Given the description of an element on the screen output the (x, y) to click on. 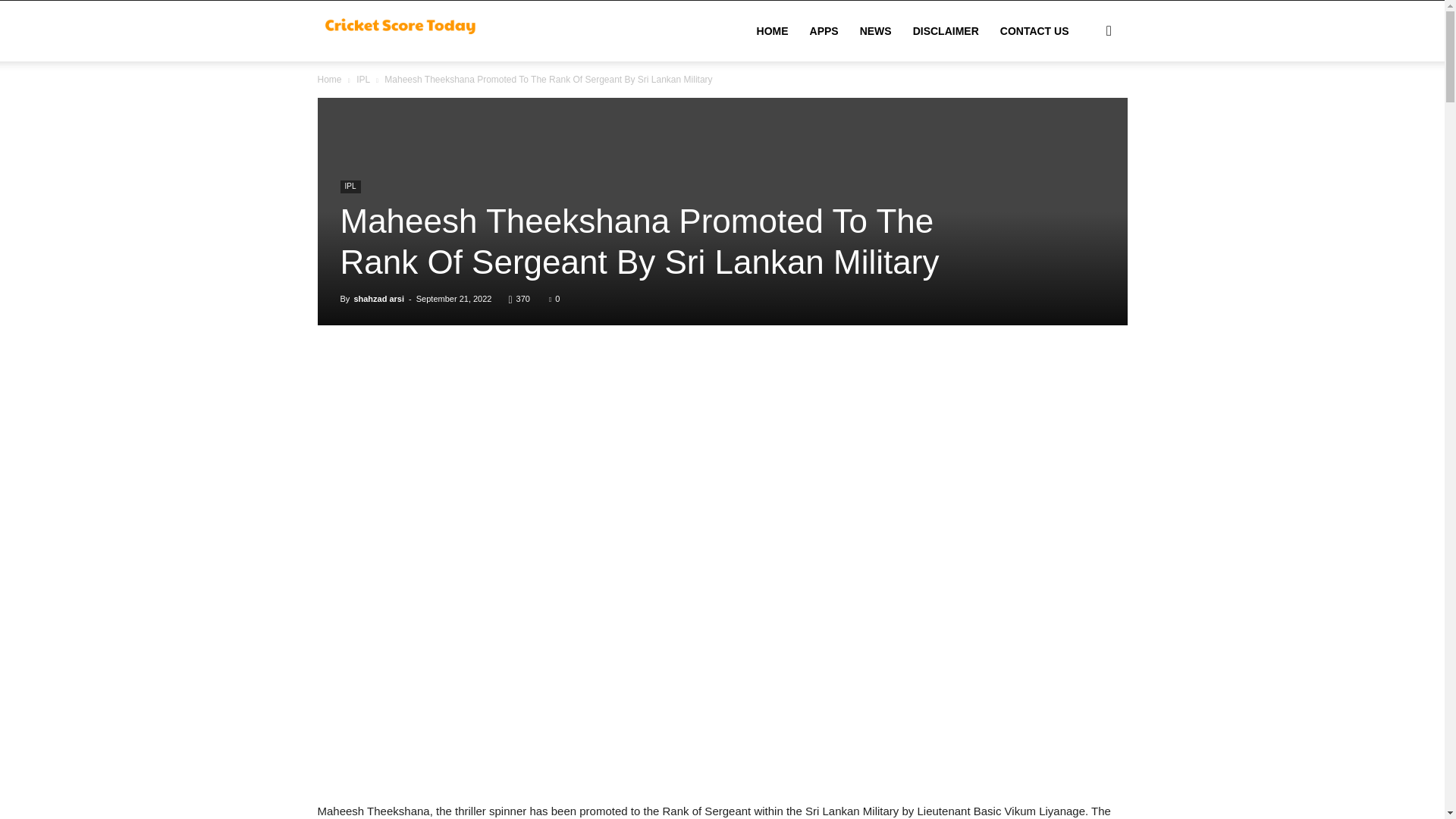
Search (1085, 103)
HOME (772, 30)
Cricket Score Today (402, 30)
shahzad arsi (378, 298)
Home (328, 79)
IPL (362, 79)
NEWS (875, 30)
View all posts in IPL (362, 79)
CONTACT US (1035, 30)
DISCLAIMER (946, 30)
0 (553, 298)
IPL (349, 186)
APPS (823, 30)
